Given the description of an element on the screen output the (x, y) to click on. 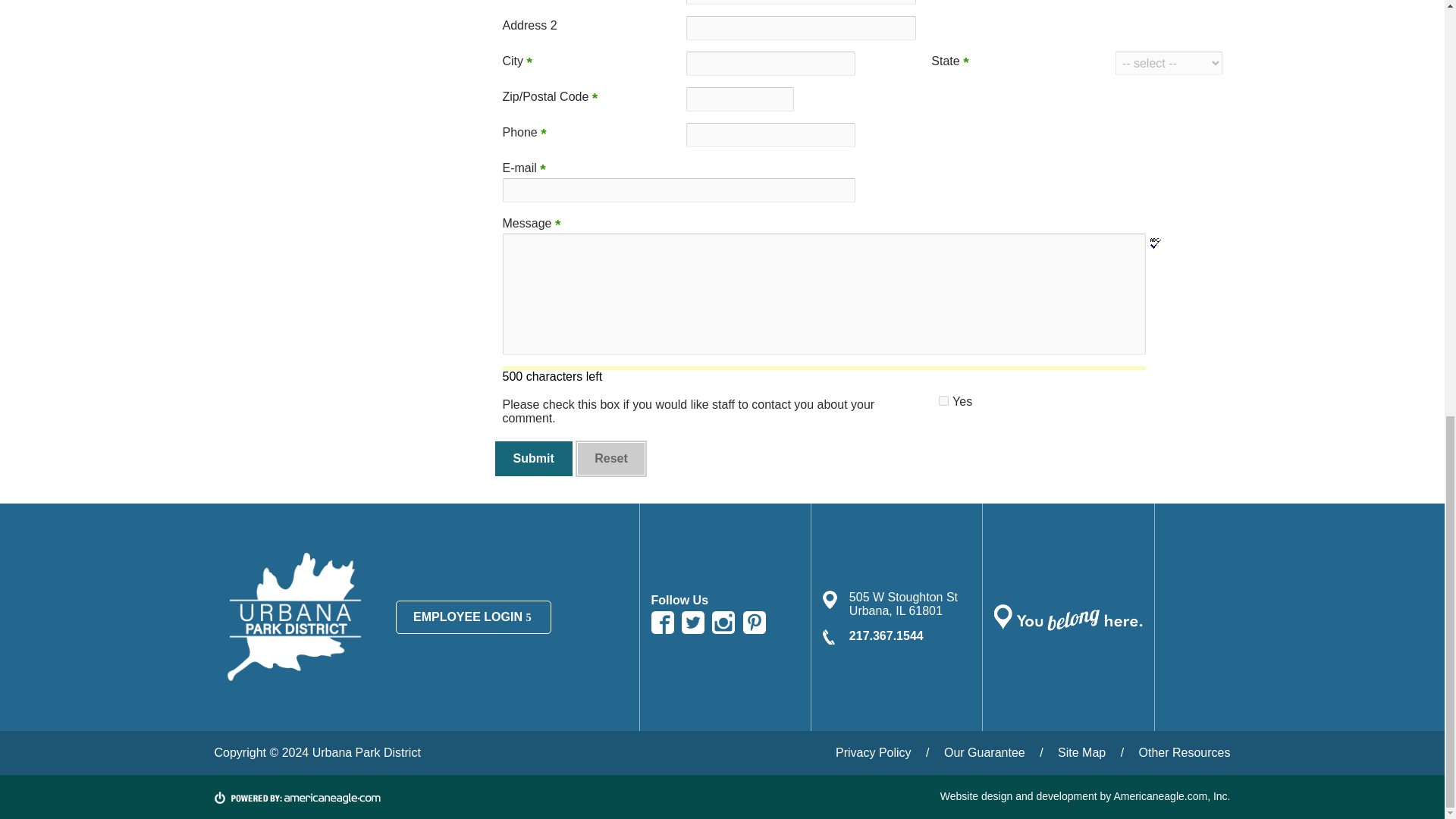
Yes (944, 400)
Reset (610, 458)
Submit (533, 459)
